Given the description of an element on the screen output the (x, y) to click on. 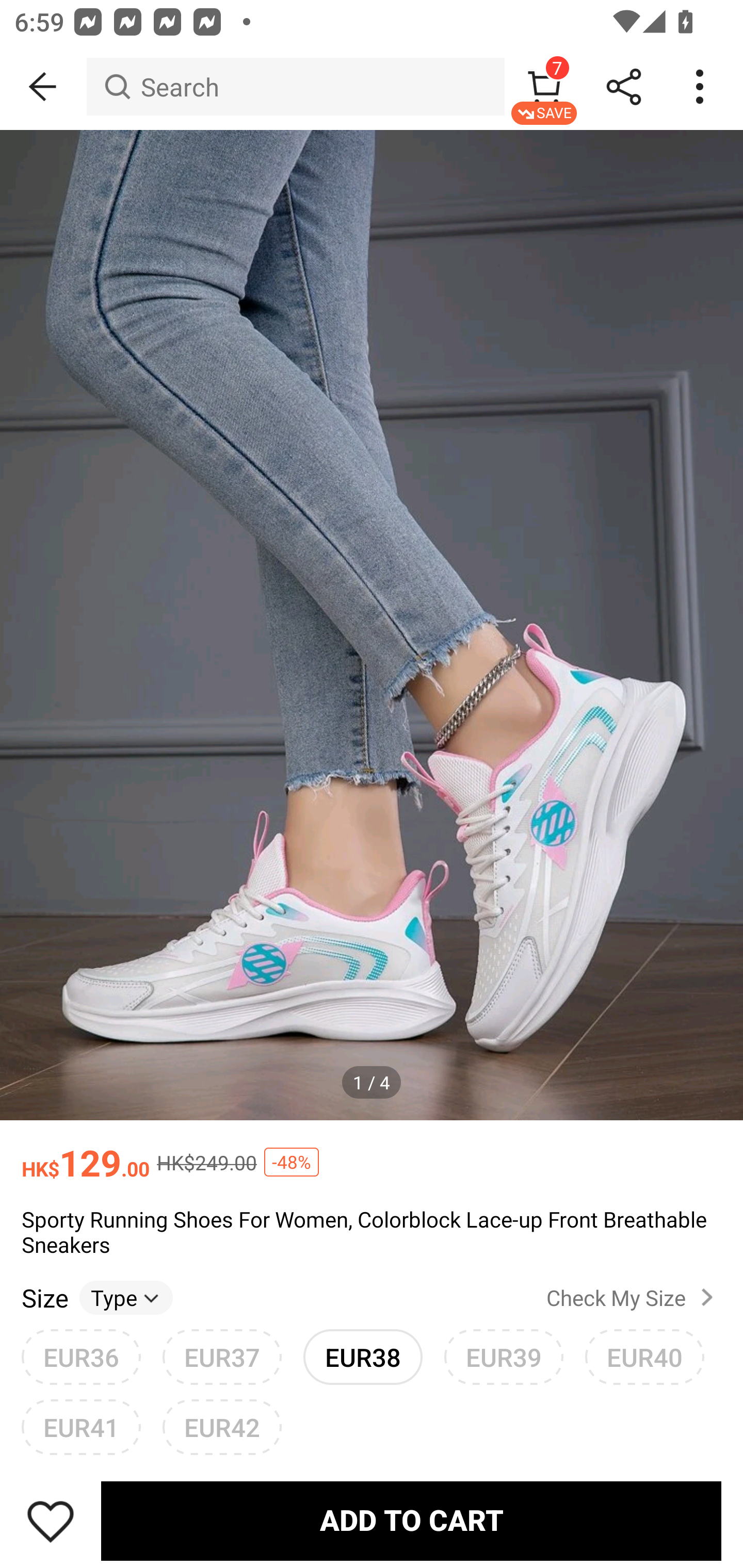
BACK (43, 86)
7 SAVE (543, 87)
Search (295, 87)
1 / 4 (371, 1082)
HK$129.00 HK$249.00 -48% (371, 1152)
Size (44, 1297)
Type (126, 1297)
Check My Size (633, 1297)
EUR36 EUR38 (81, 1356)
EUR37 EUR39 (221, 1356)
EUR38 EUR40unselected option (362, 1356)
EUR39 EUR41 (503, 1356)
EUR40 EUR42 (644, 1356)
EUR42 (221, 1419)
EUR41 (81, 1426)
EUR42 (221, 1426)
ADD TO CART (411, 1520)
Save (50, 1520)
